Given the description of an element on the screen output the (x, y) to click on. 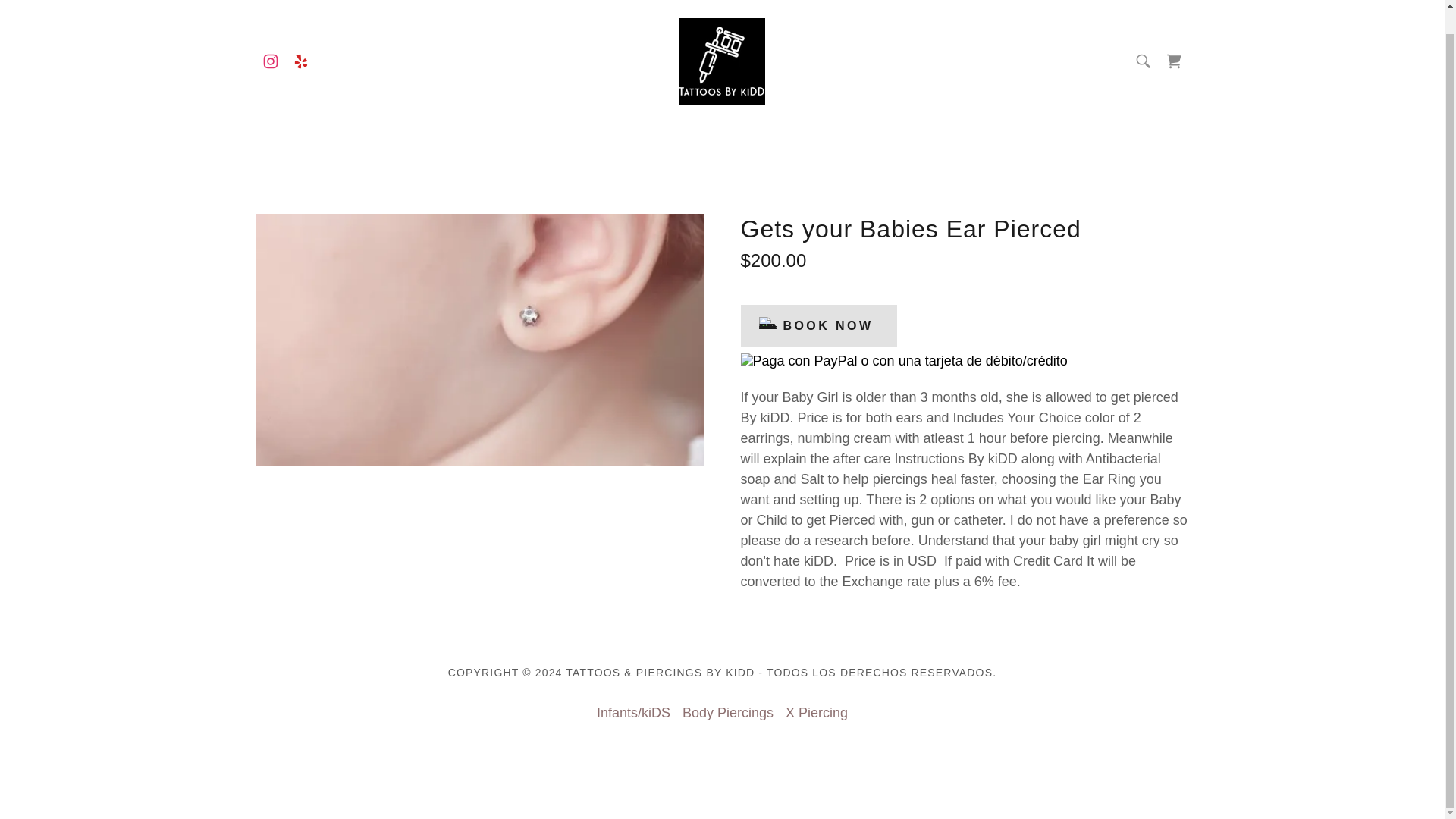
BOOK NOW (817, 325)
Body Piercings (727, 713)
X Piercing (815, 713)
